Given the description of an element on the screen output the (x, y) to click on. 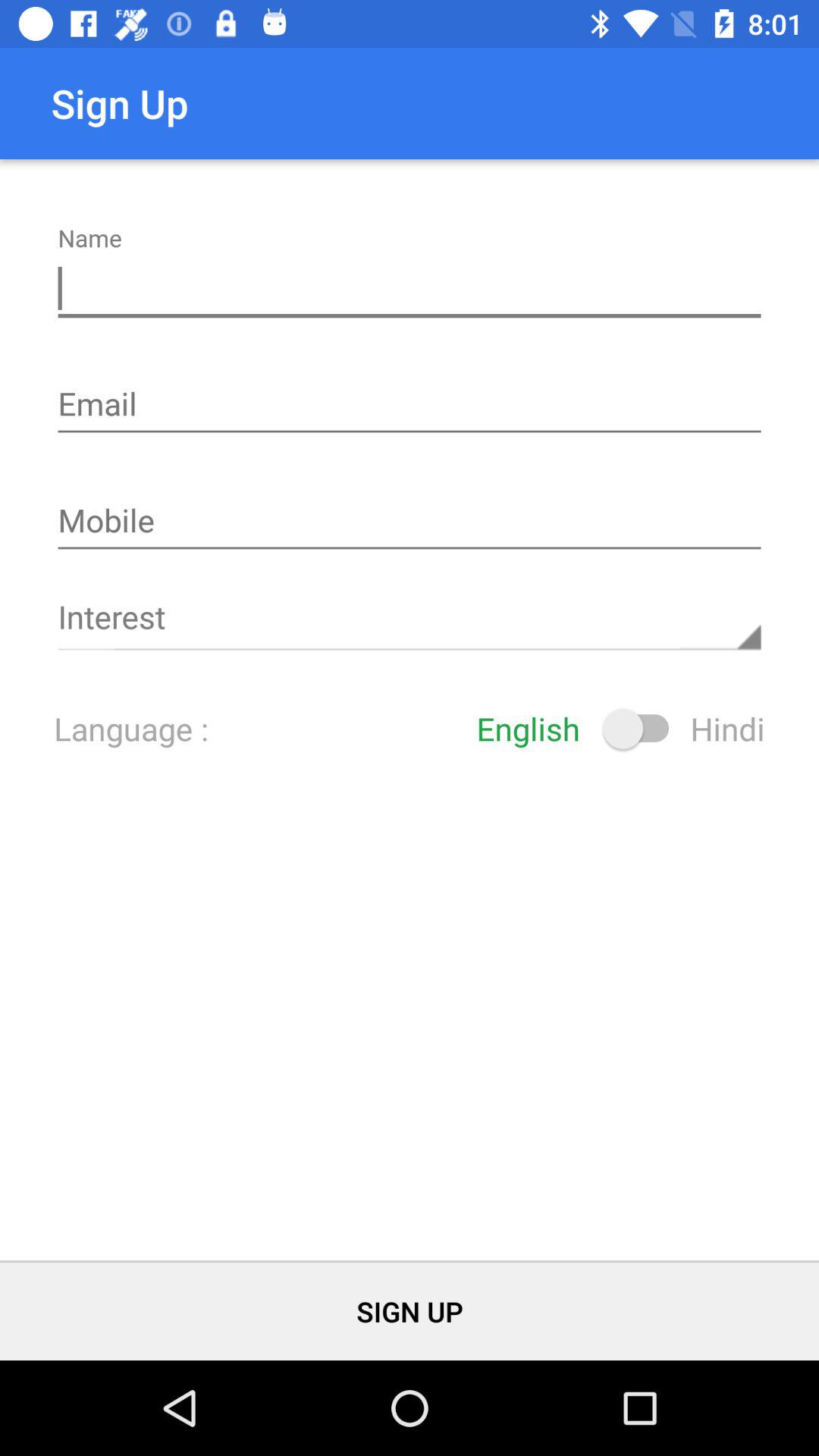
mobile number (409, 522)
